Given the description of an element on the screen output the (x, y) to click on. 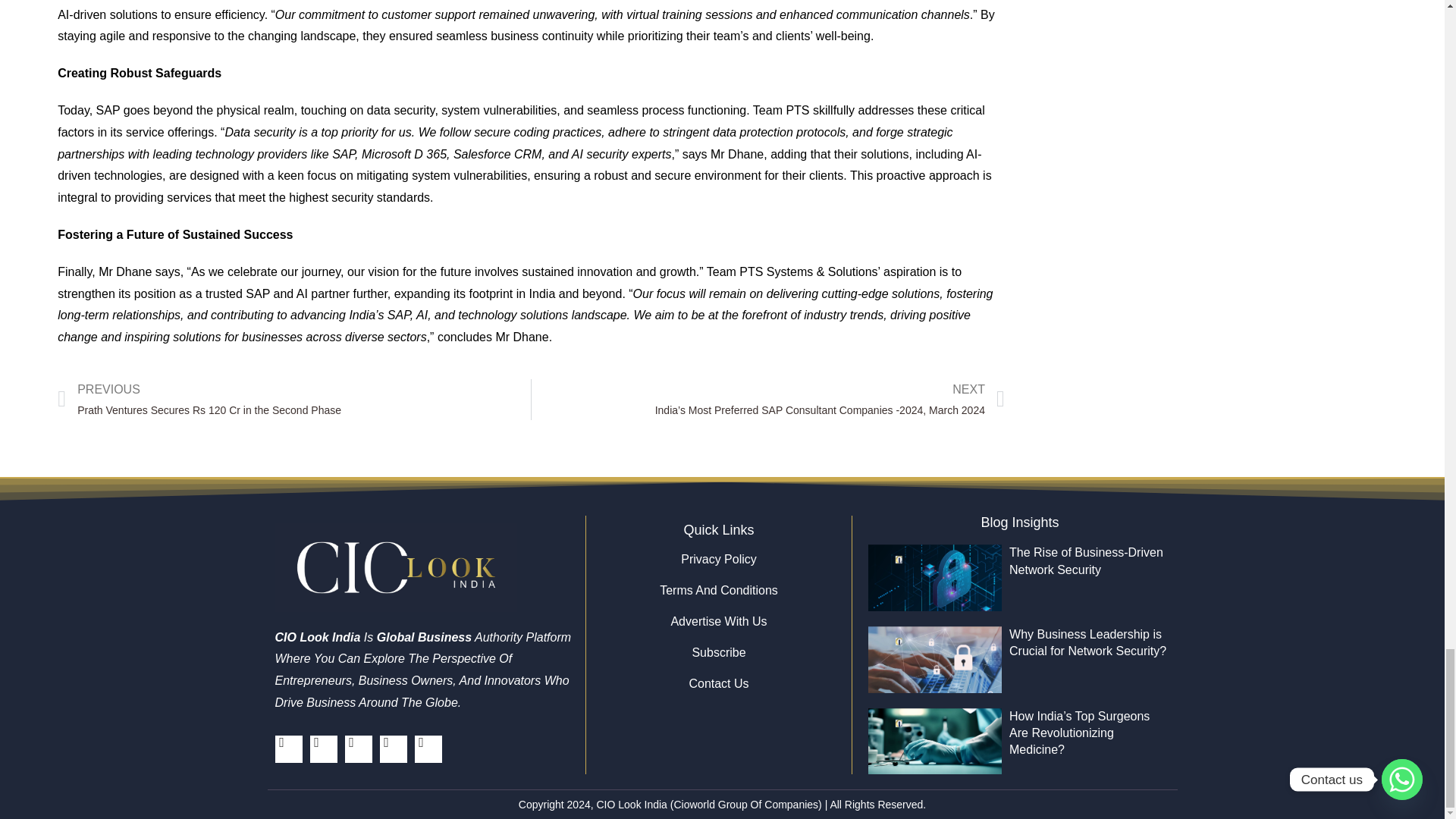
Subscribe (718, 652)
Advertise With Us (718, 621)
Contact Us (718, 683)
Privacy Policy (718, 559)
Terms And Conditions (718, 590)
